Given the description of an element on the screen output the (x, y) to click on. 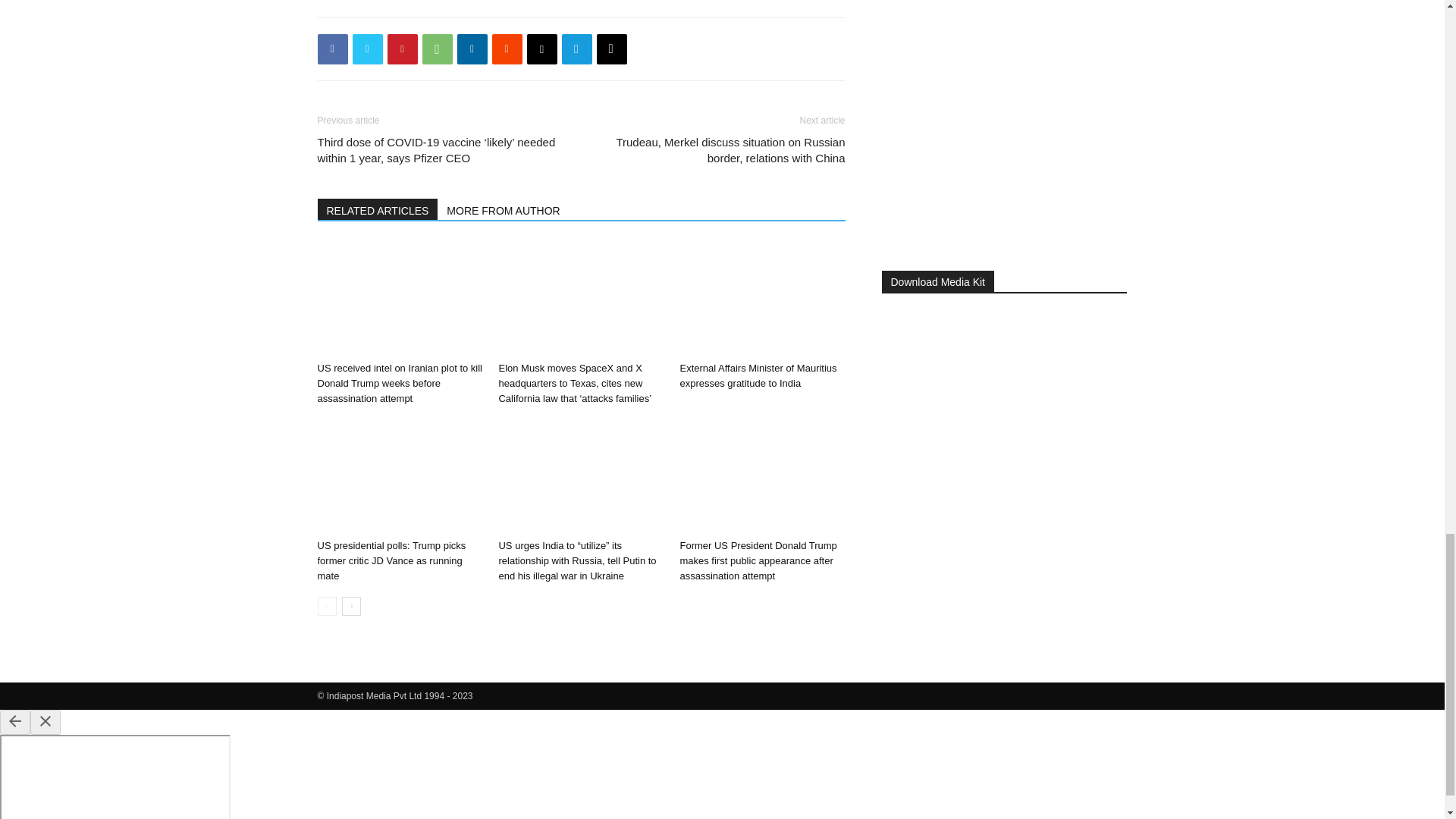
WhatsApp (436, 49)
Pinterest (401, 49)
Linkedin (471, 49)
Telegram (575, 49)
ReddIt (506, 49)
Facebook (332, 49)
Email (540, 49)
Twitter (366, 49)
